Given the description of an element on the screen output the (x, y) to click on. 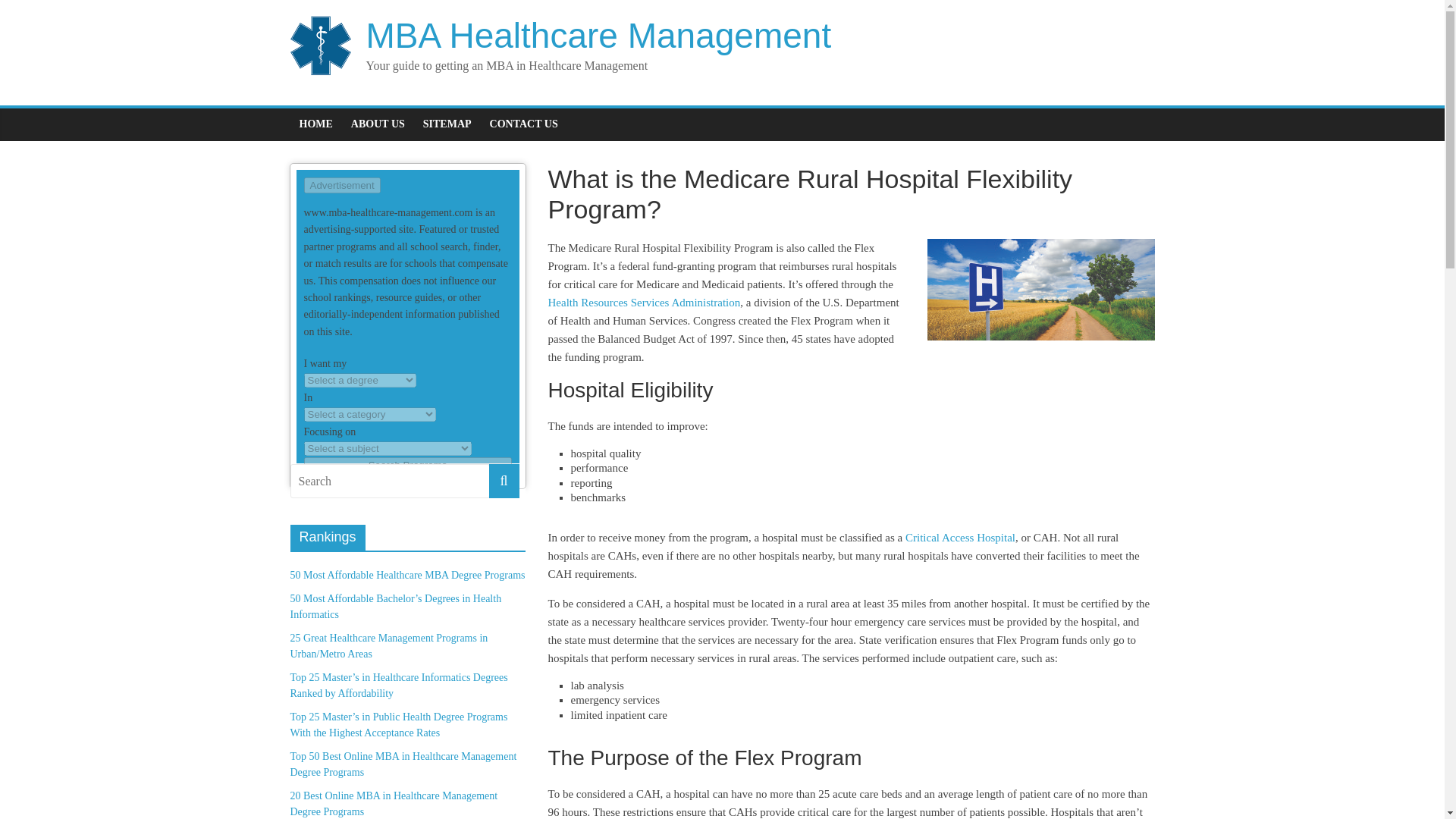
MBA Healthcare Management (598, 35)
50 Most Affordable Healthcare MBA Degree Programs (406, 574)
Critical Access Hospital (959, 537)
20 Best Online MBA in Healthcare Management Degree Programs (393, 803)
MBA Healthcare Management (598, 35)
Health Resources Services Administration (644, 302)
ABOUT US (377, 124)
CONTACT US (523, 124)
HOME (314, 124)
SITEMAP (446, 124)
